Given the description of an element on the screen output the (x, y) to click on. 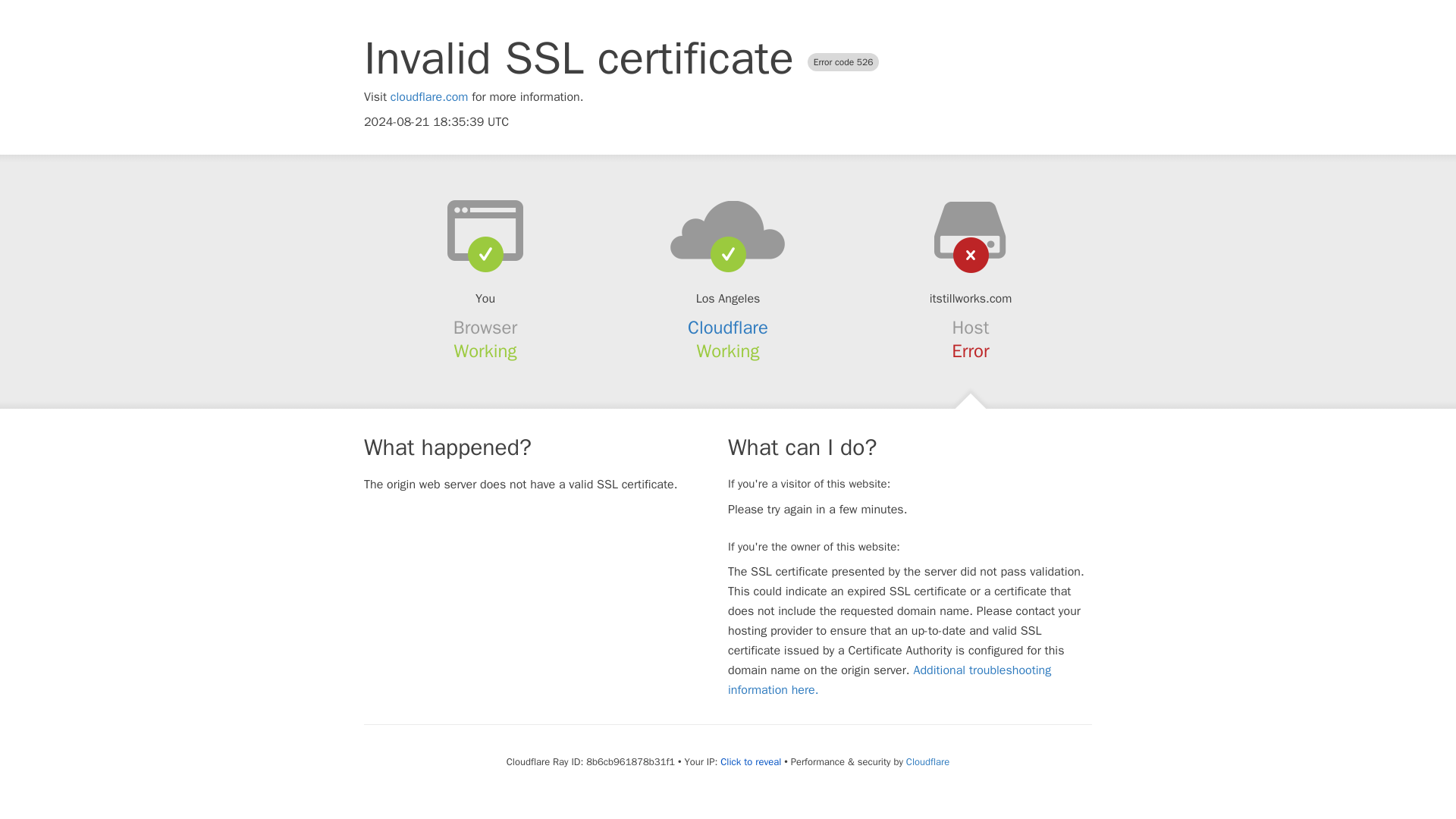
Cloudflare (927, 761)
Additional troubleshooting information here. (889, 679)
Cloudflare (727, 327)
cloudflare.com (429, 96)
Click to reveal (750, 762)
